Given the description of an element on the screen output the (x, y) to click on. 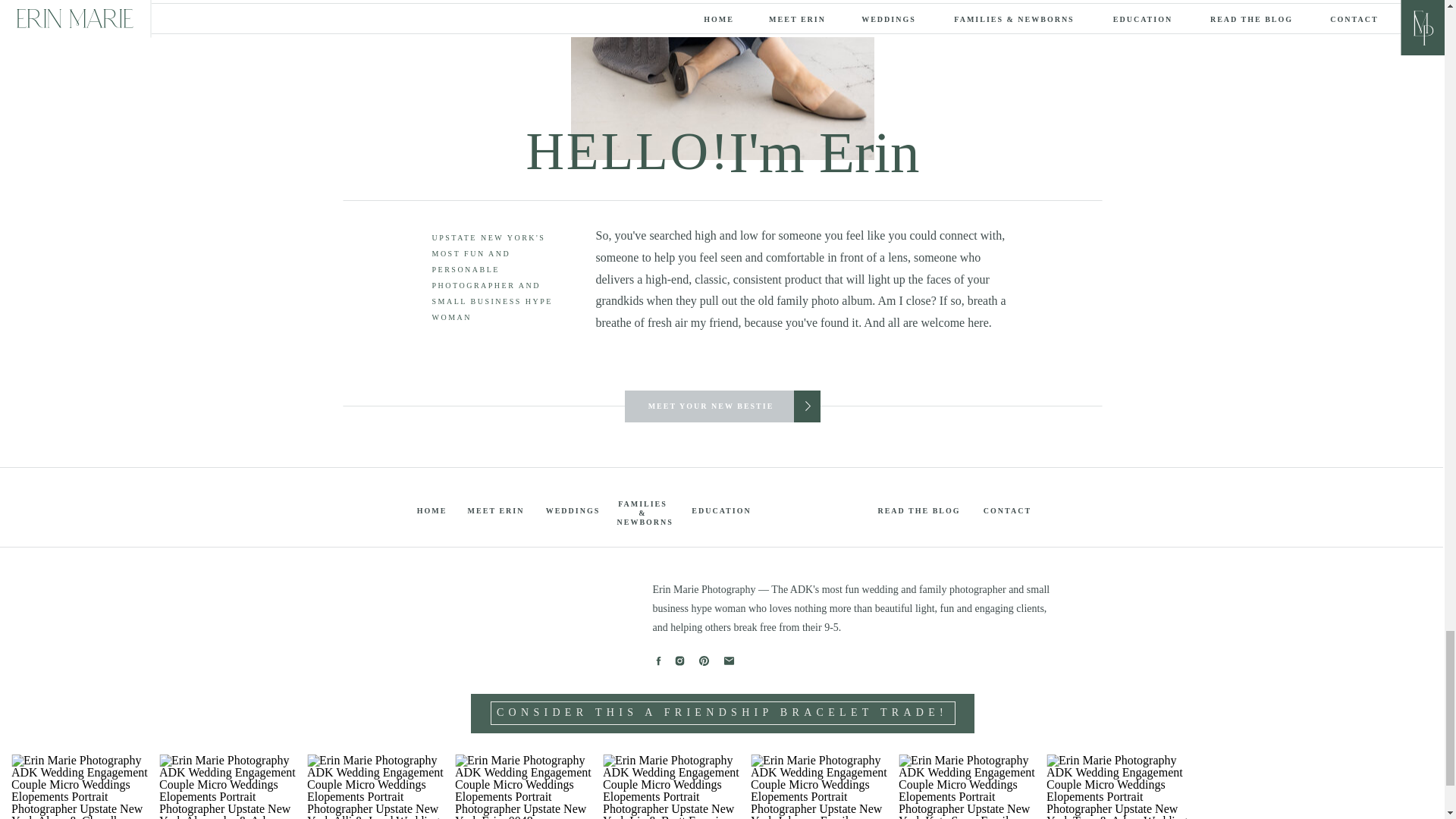
CONTACT (1006, 509)
MEET YOUR NEW BESTIE (710, 405)
